Given the description of an element on the screen output the (x, y) to click on. 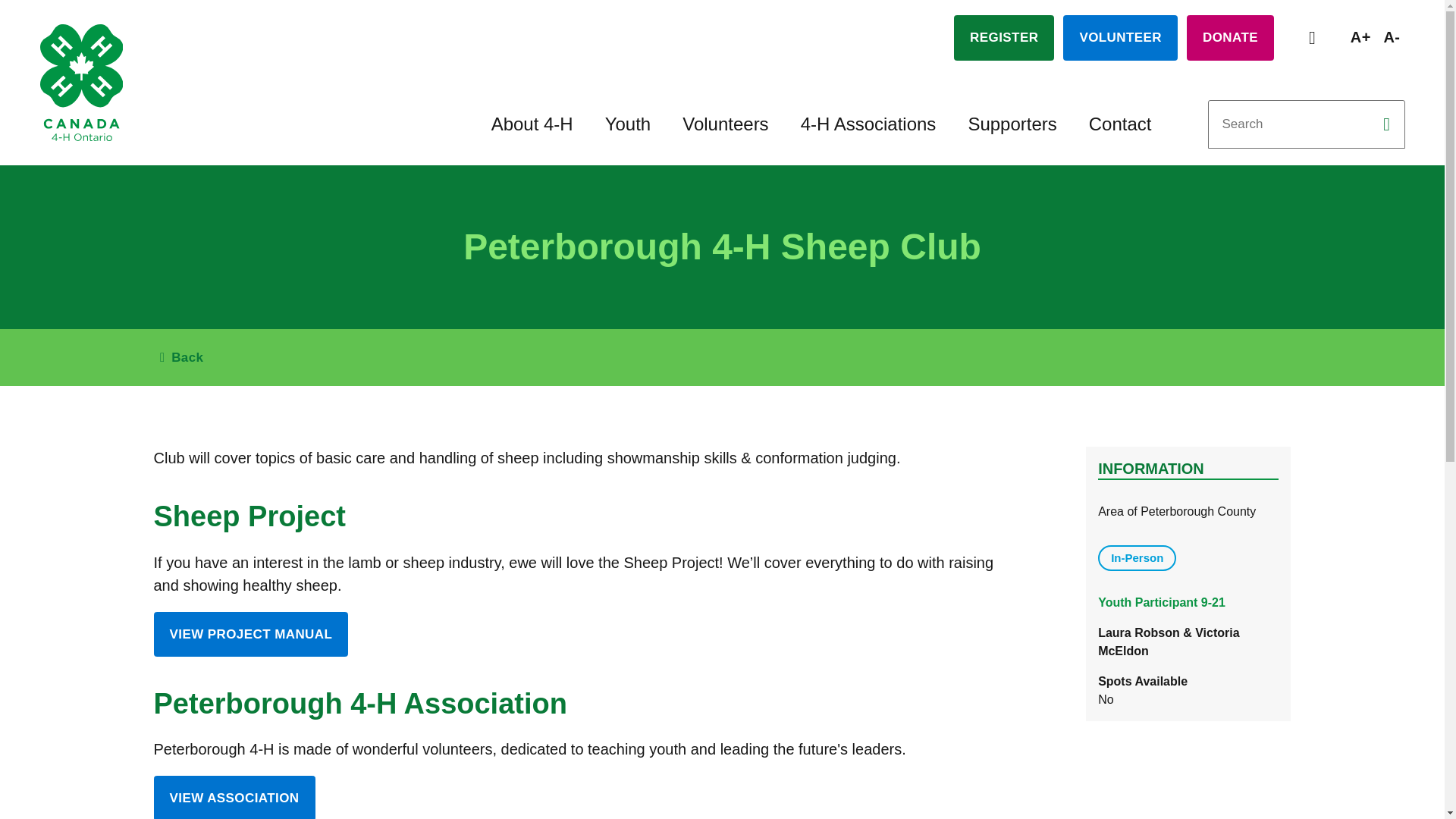
A- (1391, 36)
REGISTER (1003, 37)
VOLUNTEER (1119, 37)
DONATE (1230, 37)
